Given the description of an element on the screen output the (x, y) to click on. 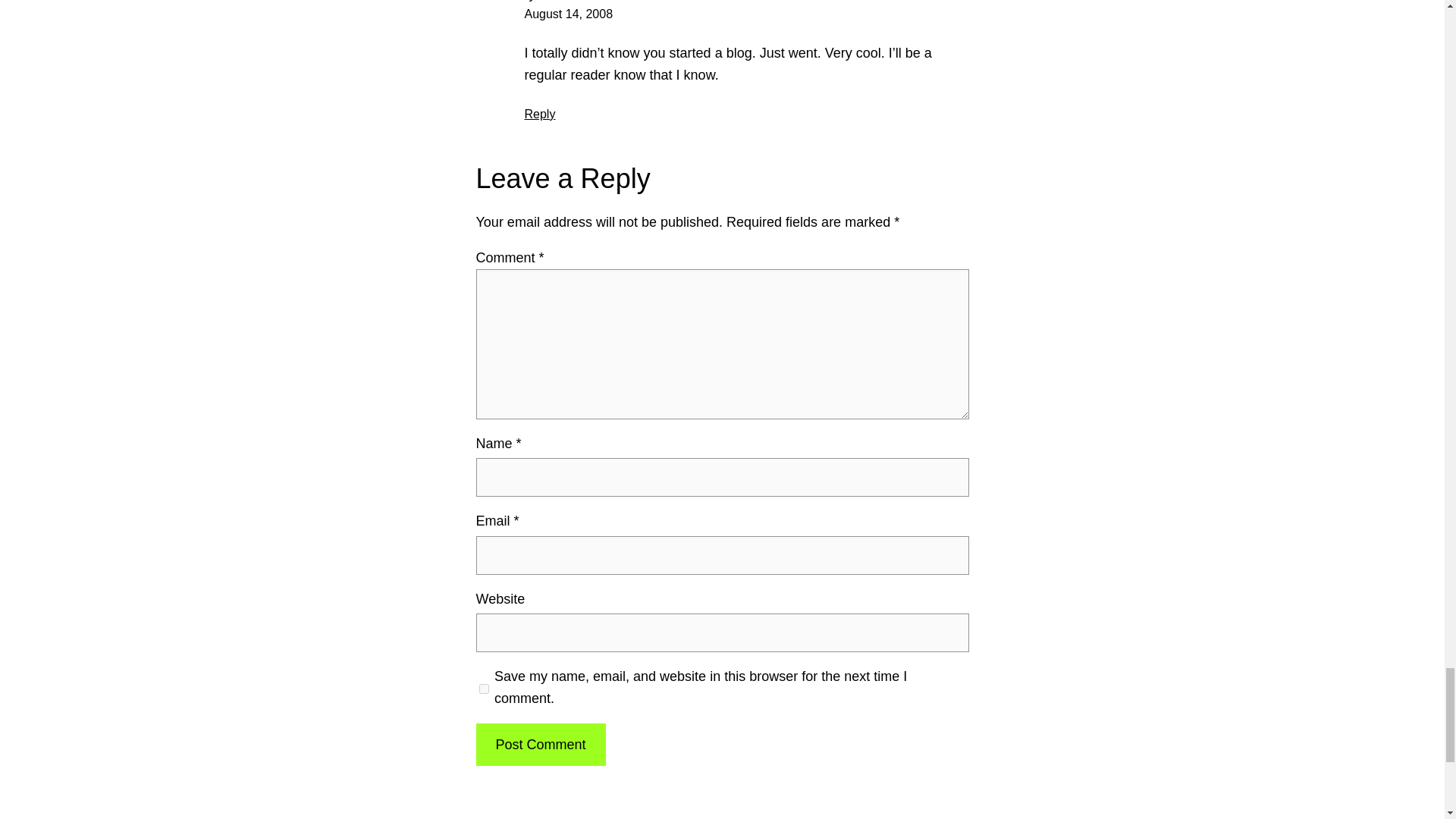
Post Comment (540, 744)
Post Comment (540, 744)
Reply (540, 113)
August 14, 2008 (568, 13)
ryan (537, 0)
